Given the description of an element on the screen output the (x, y) to click on. 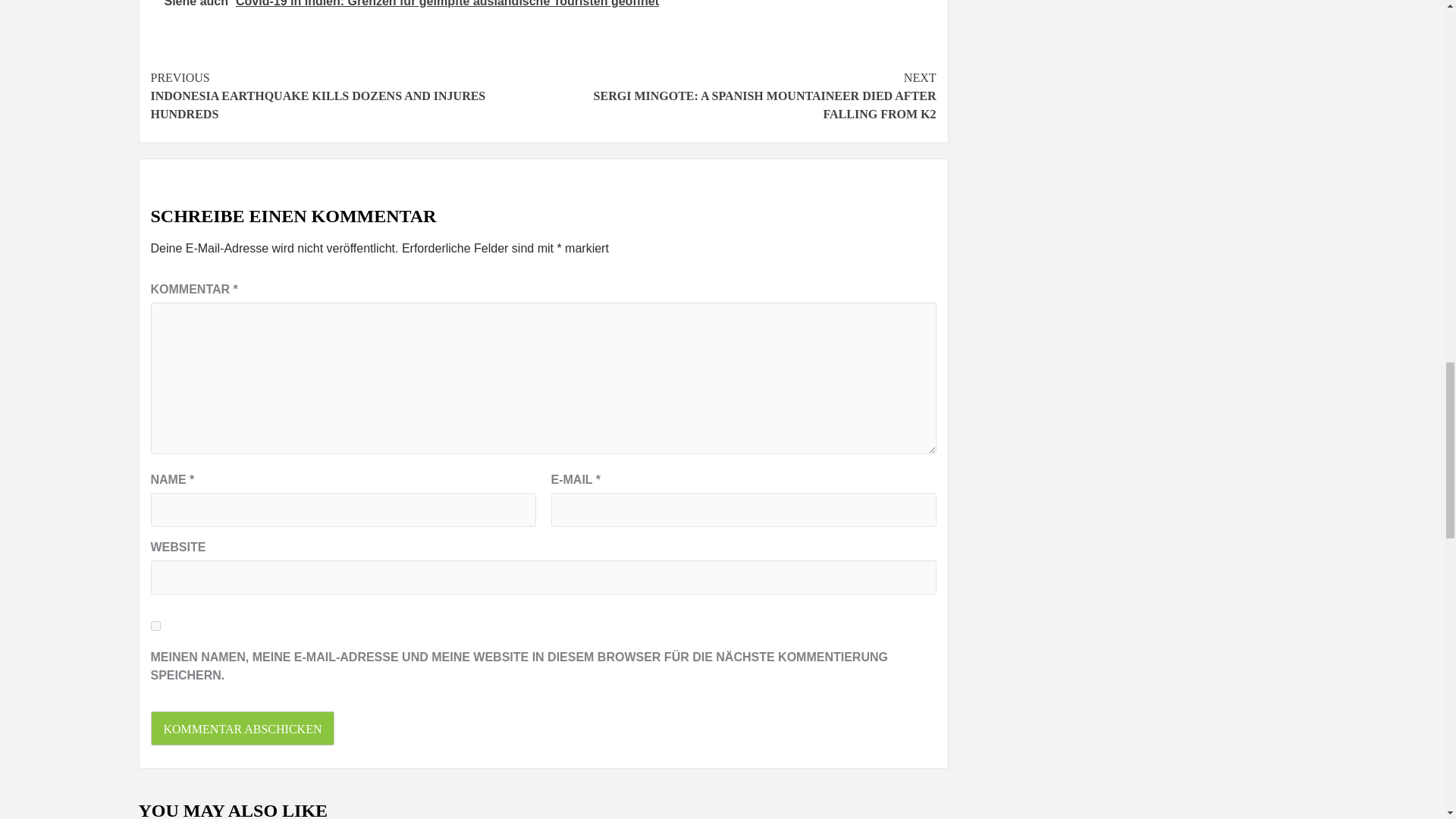
Kommentar abschicken (241, 728)
Kommentar abschicken (241, 728)
